Given the description of an element on the screen output the (x, y) to click on. 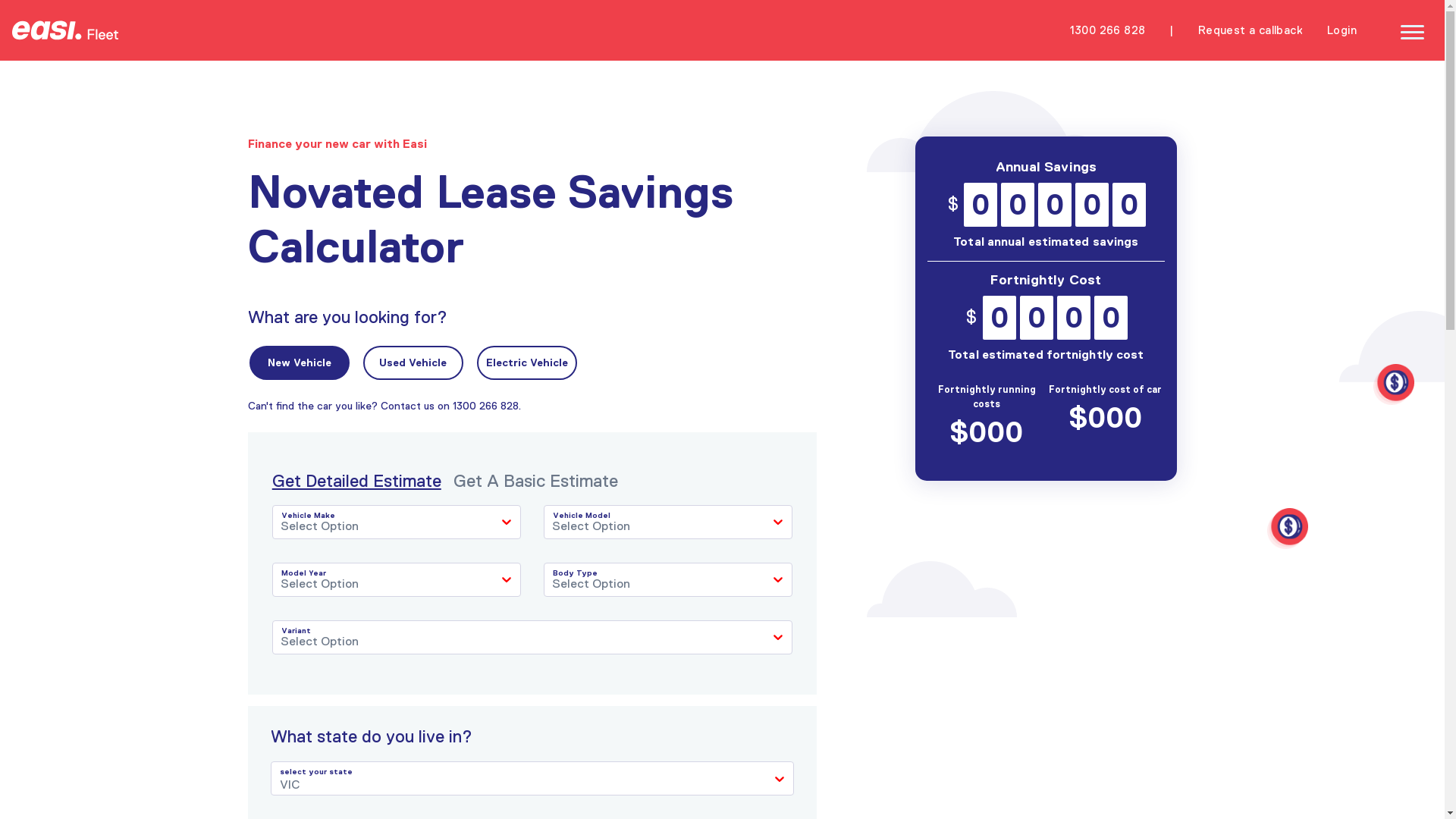
Request a callback Element type: text (1250, 30)
Login Element type: text (1341, 30)
New Vehicle Element type: text (299, 362)
1300 266 828 Element type: text (485, 404)
Electric Vehicle Element type: text (526, 362)
1300 266 828 Element type: text (1107, 30)
| Element type: text (1171, 30)
Used Vehicle Element type: text (413, 362)
